Given the description of an element on the screen output the (x, y) to click on. 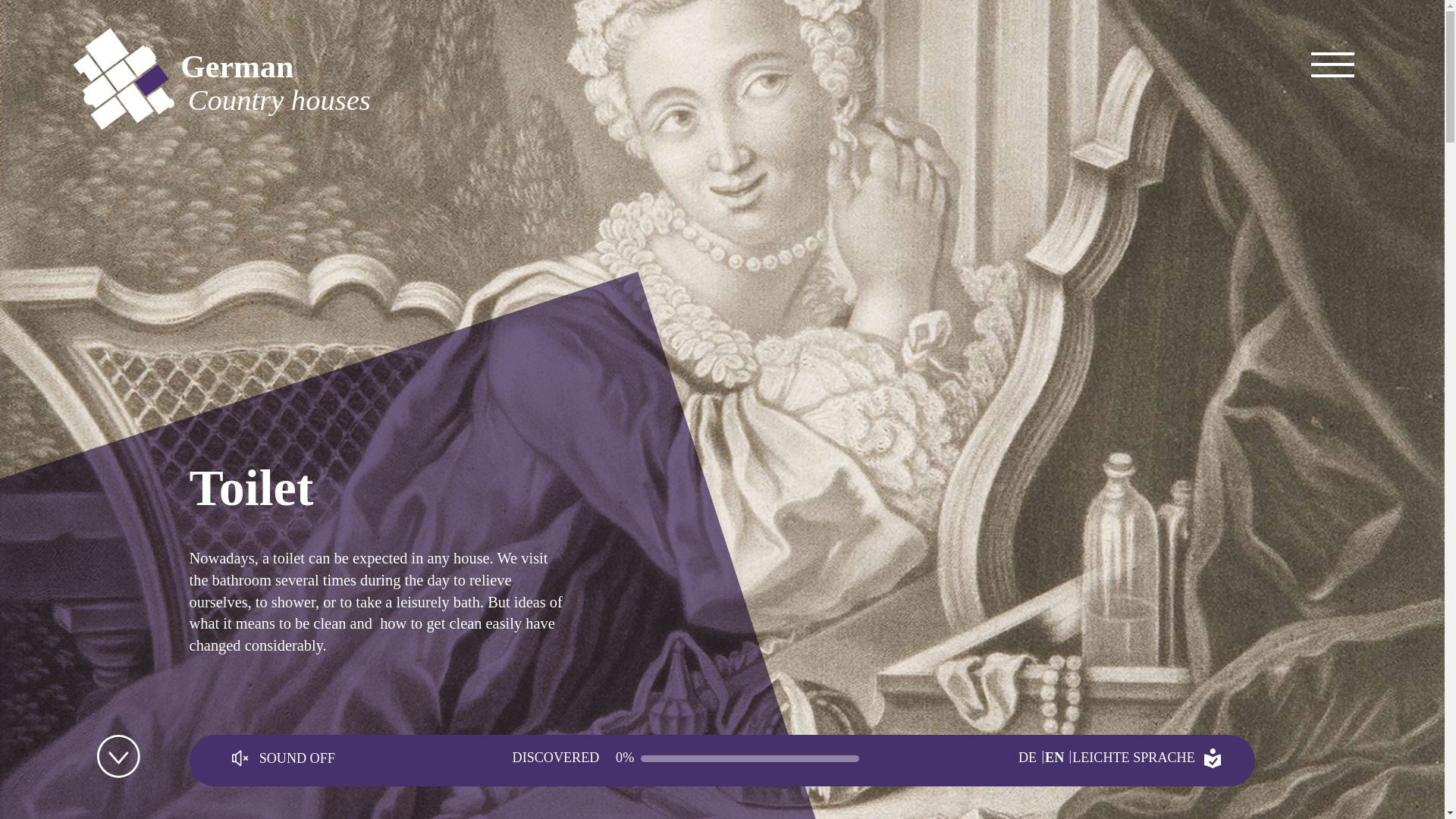
DE (1031, 757)
LEICHTE SPRACHE  (1147, 757)
EN (717, 83)
